Given the description of an element on the screen output the (x, y) to click on. 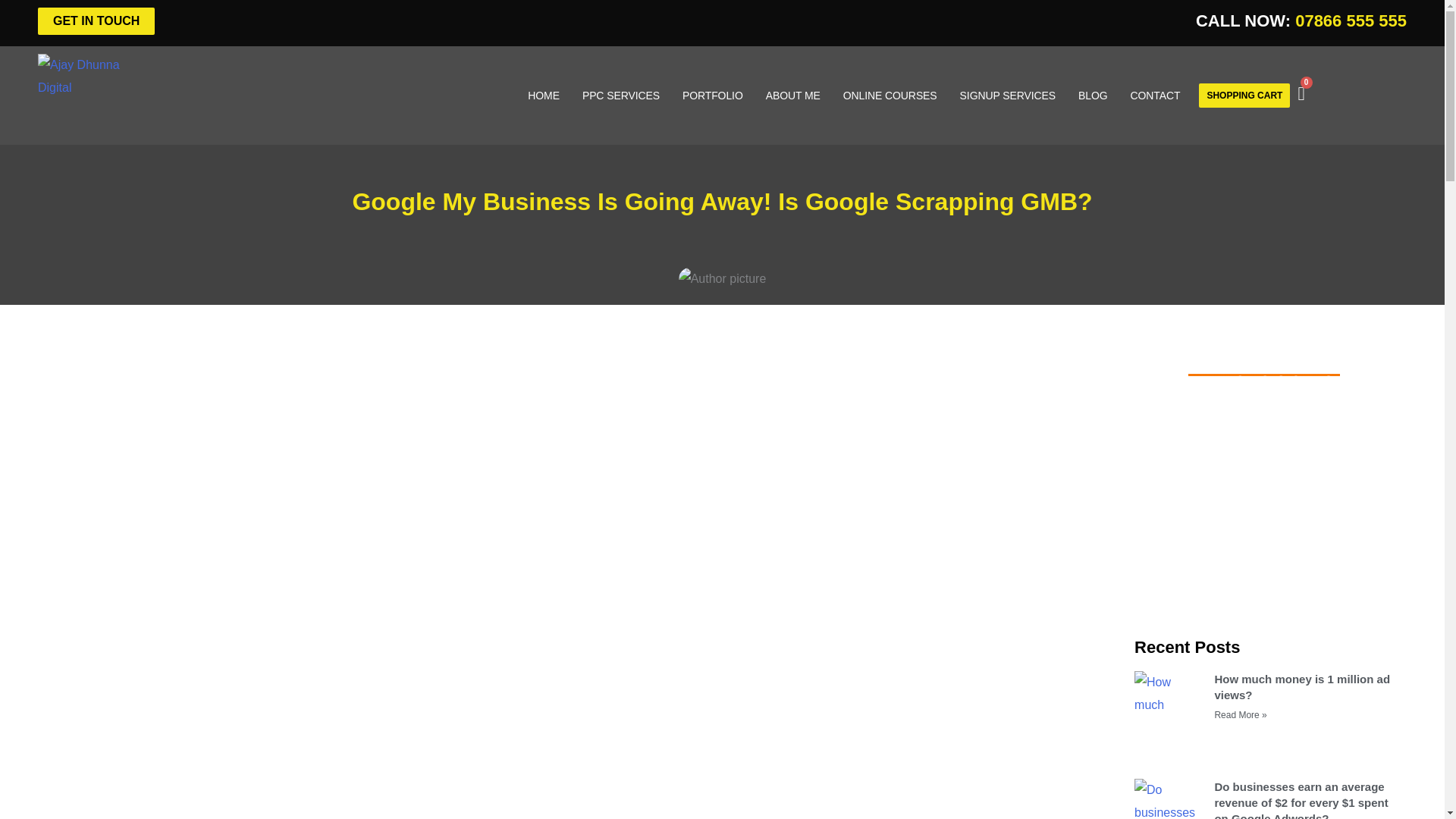
CONTACT (1154, 95)
PORTFOLIO (712, 95)
ABOUT ME (792, 95)
PPC SERVICES (620, 95)
SIGNUP SERVICES (1008, 95)
07866 555 555 (1350, 20)
BLOG (1093, 95)
HOME (543, 95)
ONLINE COURSES (890, 95)
SHOPPING CART (1244, 95)
